Given the description of an element on the screen output the (x, y) to click on. 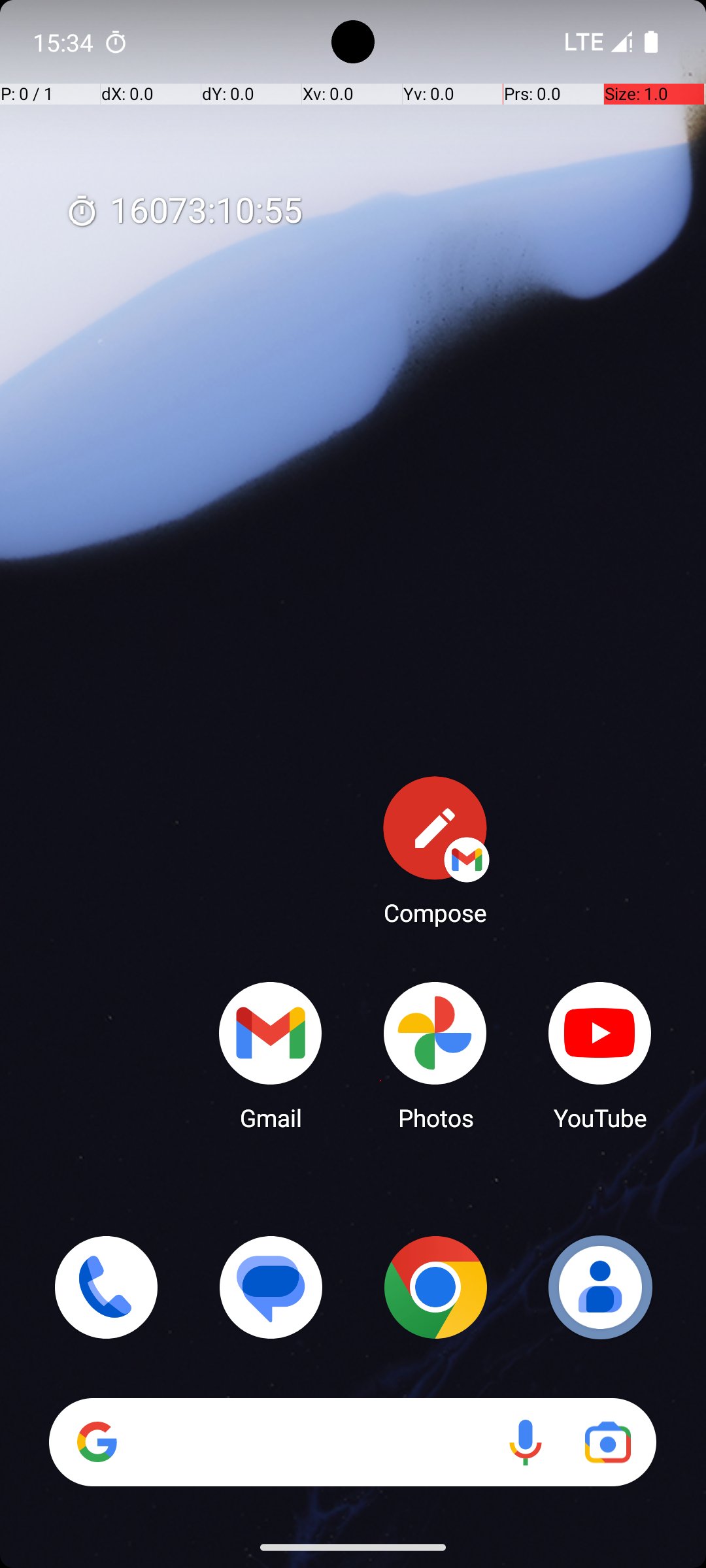
01:03 - 02:03 Element type: android.widget.TextView (137, 787)
We will explore annual budget. Element type: android.widget.TextView (373, 822)
10:54 - 11:24 Element type: android.widget.TextView (137, 916)
We will prepare for software updates. Please bring relevant documents. Element type: android.widget.TextView (373, 952)
22:27 - 23:27 Element type: android.widget.TextView (137, 1086)
We will explore upcoming project milestones. Element type: android.widget.TextView (373, 1122)
17:42 - 18:12 Element type: android.widget.TextView (137, 1256)
We will review client feedback. Looking forward to productive discussions. Element type: android.widget.TextView (373, 1291)
20:05 - 20:35 Element type: android.widget.TextView (137, 1386)
We will discuss team roles. Element type: android.widget.TextView (373, 1421)
